Given the description of an element on the screen output the (x, y) to click on. 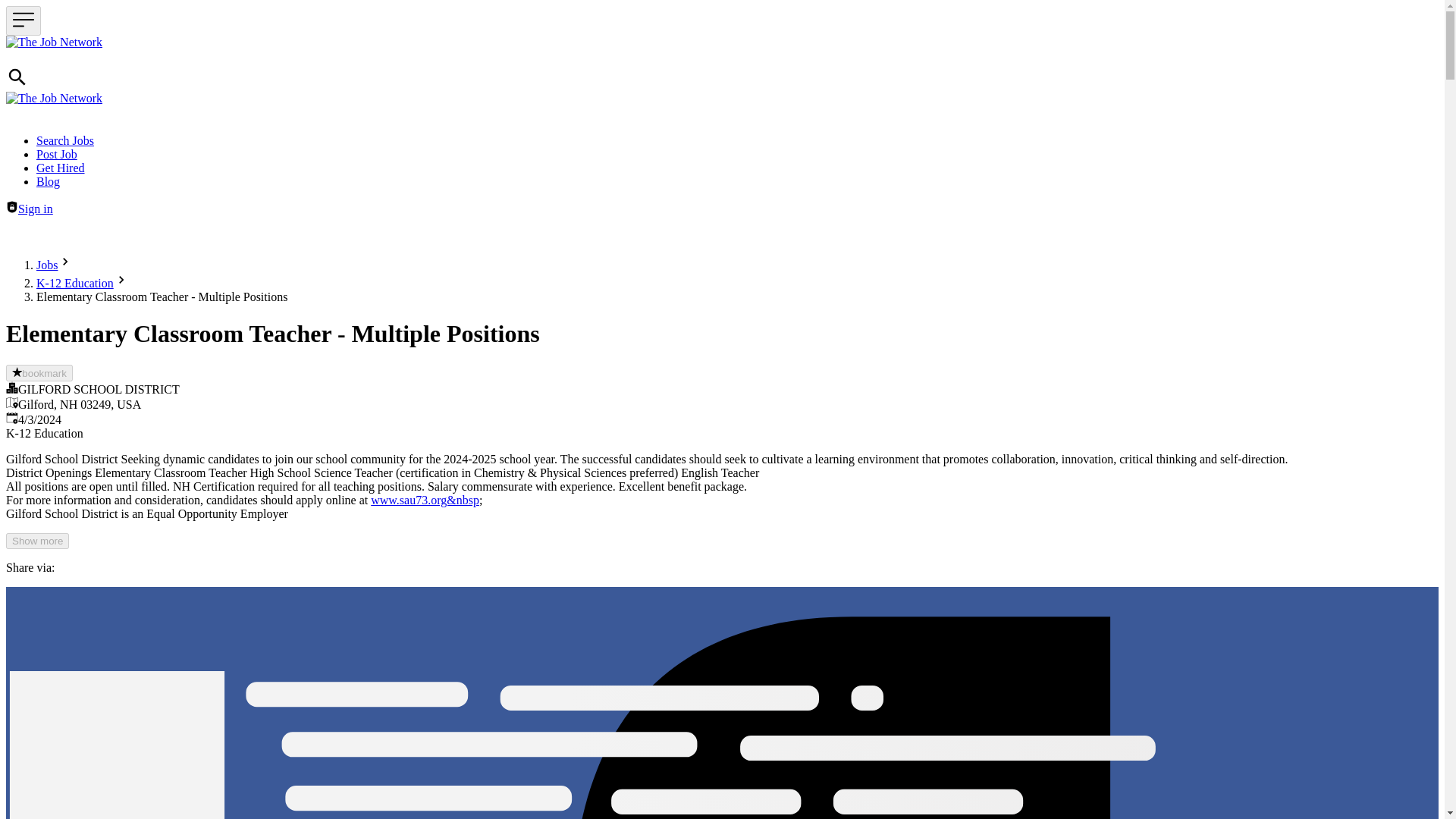
Menu (22, 20)
Get Hired (60, 167)
K-12 Education (74, 282)
Blog (47, 181)
bookmark (38, 372)
location (11, 402)
Menu (22, 19)
Published (11, 417)
Search (17, 83)
Sign in (11, 206)
Jobs (47, 264)
Search Jobs (65, 140)
company (11, 387)
bookmark (38, 372)
Post Job (56, 154)
